Given the description of an element on the screen output the (x, y) to click on. 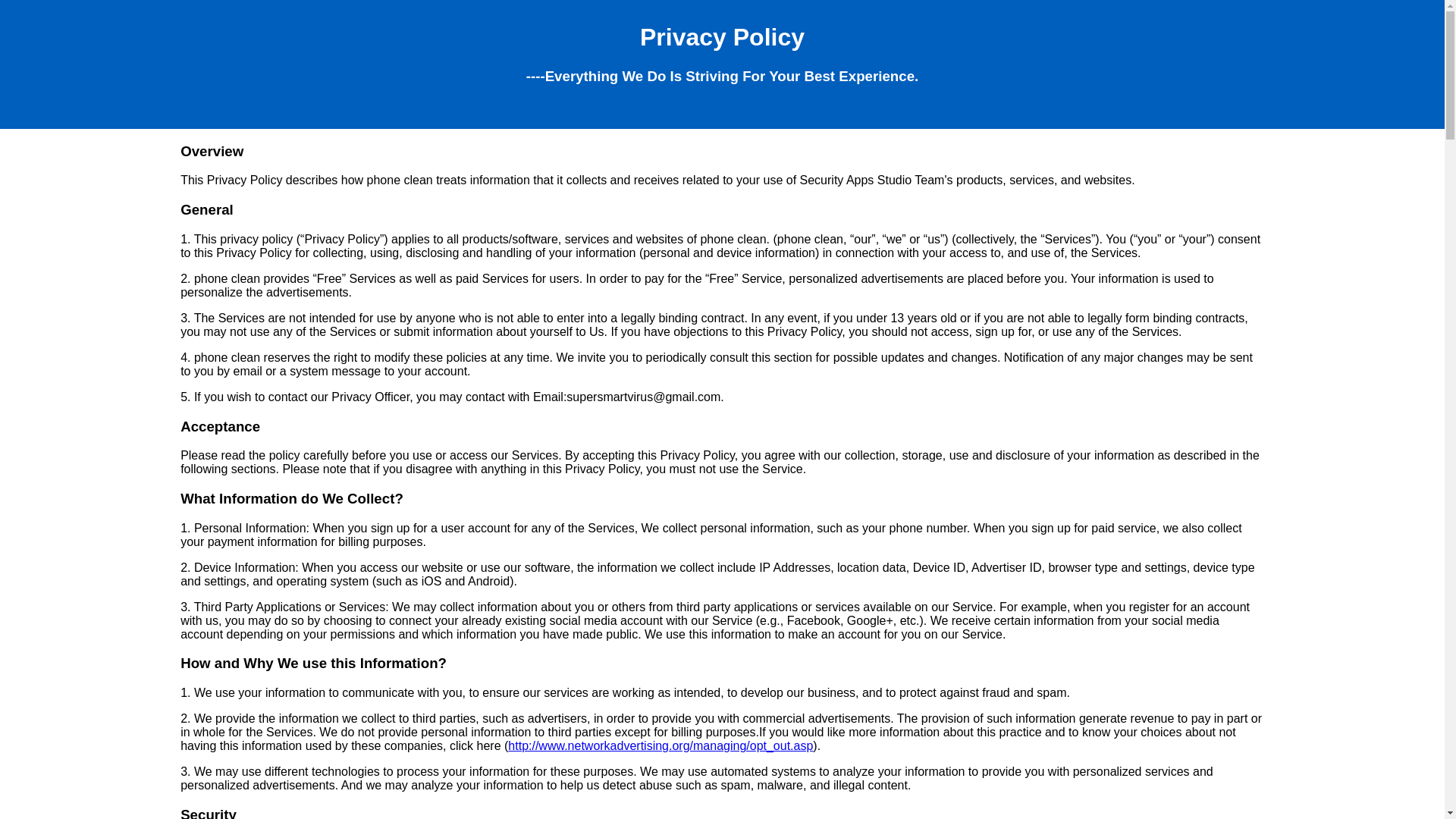
http://www.networkadvertising.org/managing/opt_out.asp Element type: text (660, 745)
